Given the description of an element on the screen output the (x, y) to click on. 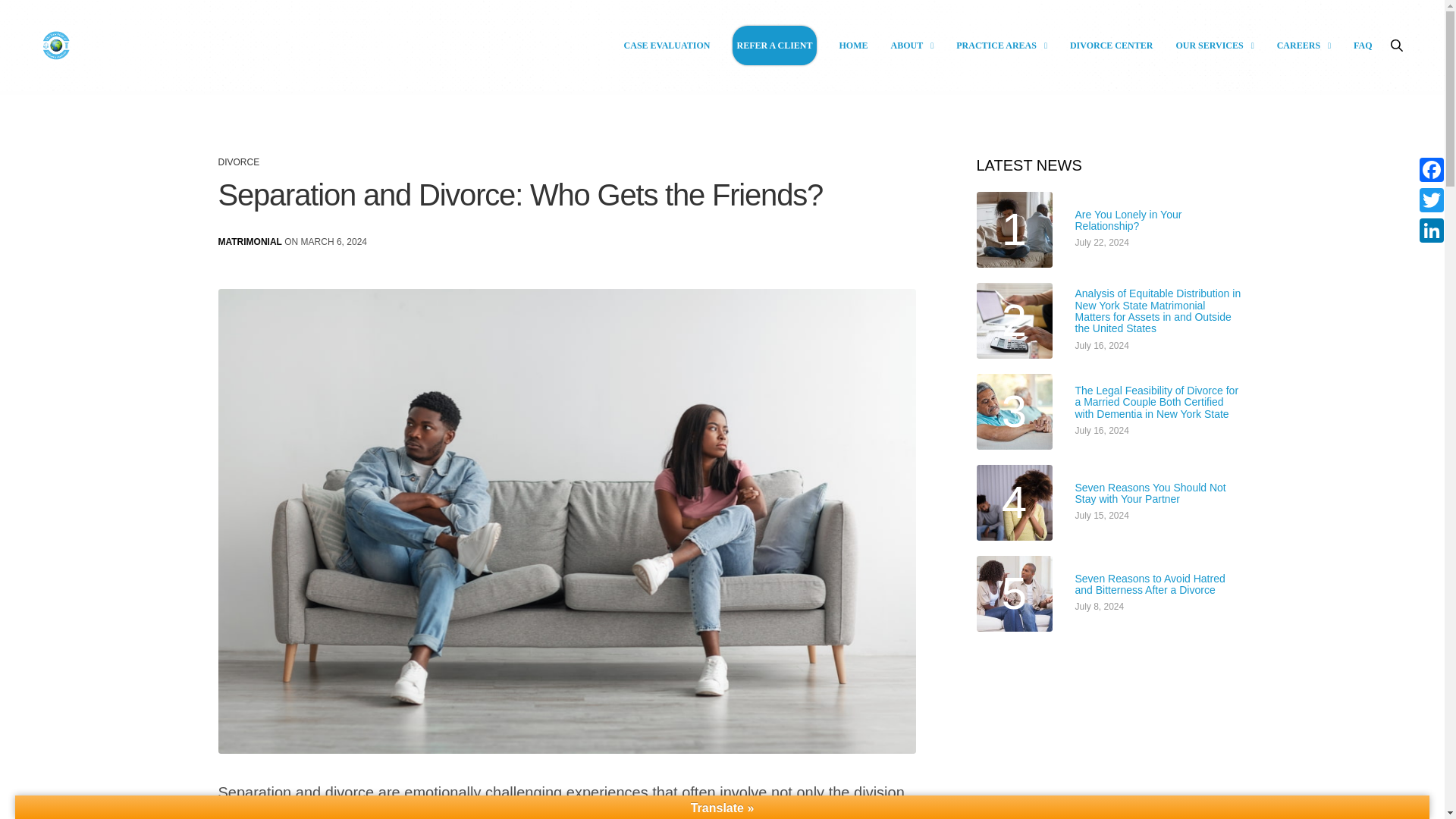
Posts by matrimonial (250, 242)
REFER A CLIENT (773, 45)
PRACTICE AREAS (1001, 45)
CASE EVALUATION (667, 45)
Seven Reasons to Avoid Hatred and Bitterness After a Divorce (1158, 585)
New York City Divorce Center (55, 45)
Seven Reasons You Should Not Stay with Your Partner (1158, 494)
OUR SERVICES (1213, 45)
DIVORCE CENTER (1111, 45)
Are You Lonely in Your Relationship? (1158, 220)
ABOUT (911, 45)
